Given the description of an element on the screen output the (x, y) to click on. 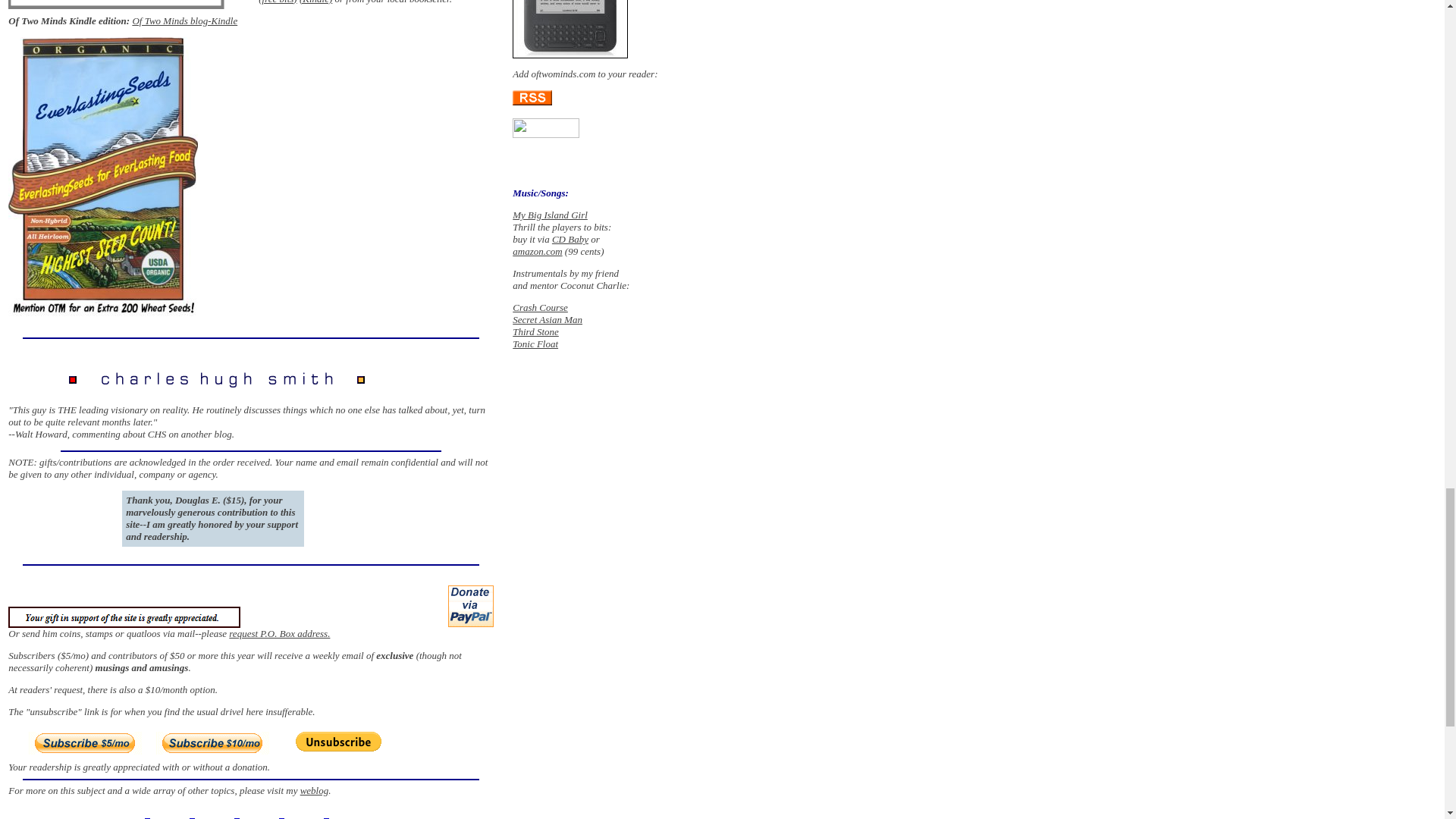
Crash Course (539, 307)
Tonic Float (534, 343)
Of Two Minds blog-Kindle (184, 20)
Third Stone (535, 331)
weblog (314, 790)
request P.O. Box address. (279, 633)
amazon.com (537, 251)
Secret Asian Man (547, 319)
Advertisement (311, 131)
My Big Island Girl (550, 214)
CD Baby (569, 238)
